Given the description of an element on the screen output the (x, y) to click on. 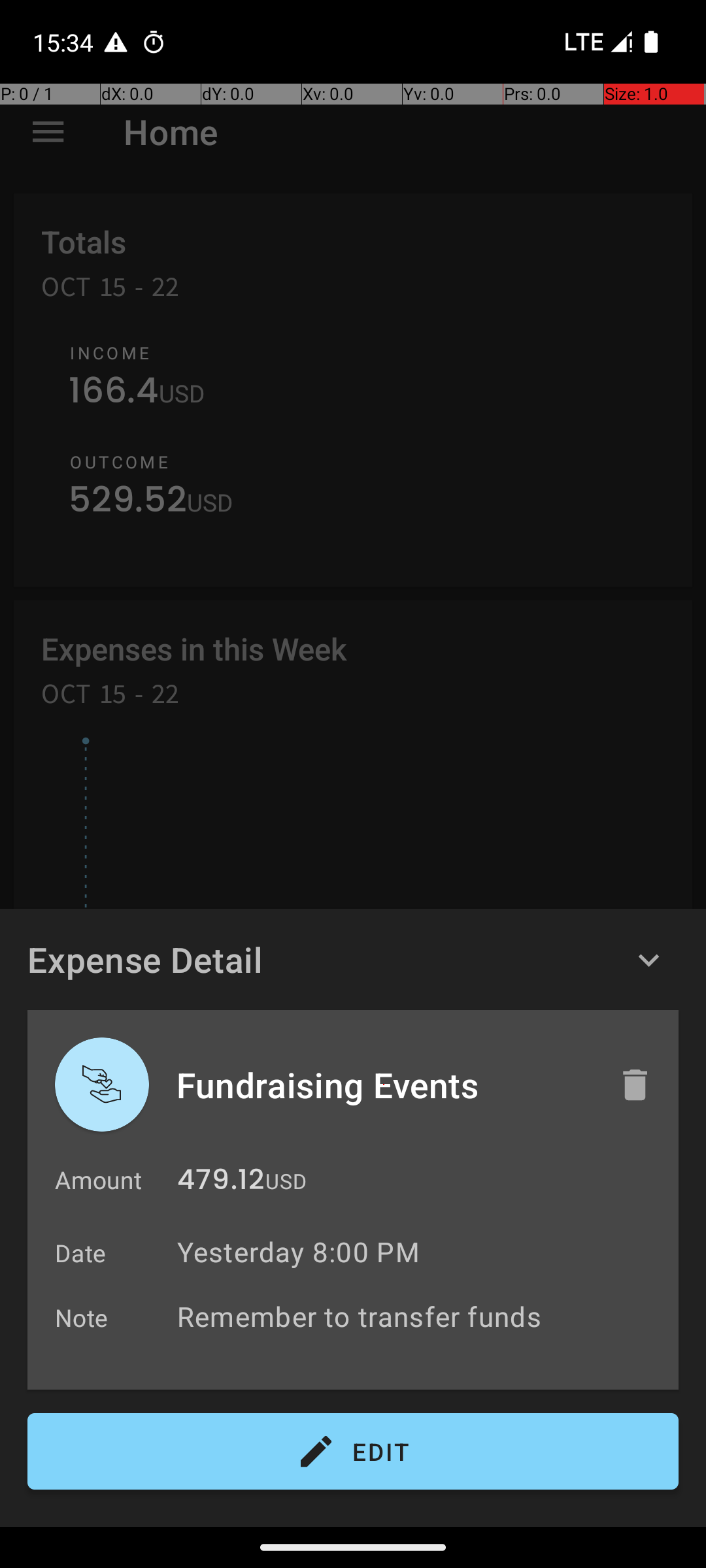
Fundraising Events Element type: android.widget.TextView (383, 1084)
479.12 Element type: android.widget.TextView (220, 1182)
Yesterday 8:00 PM Element type: android.widget.TextView (298, 1251)
